Given the description of an element on the screen output the (x, y) to click on. 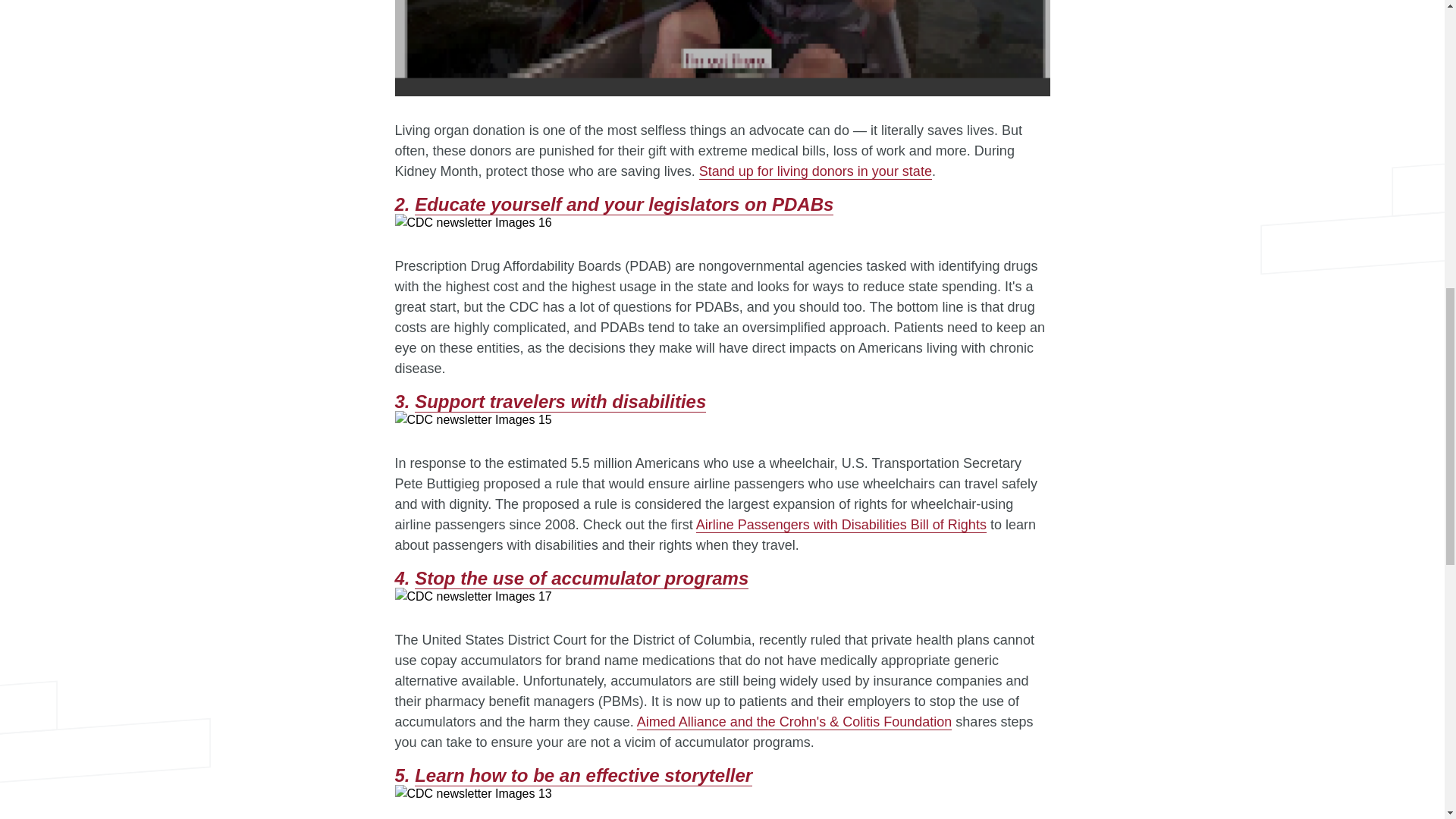
Stop the use of accumulator programs (581, 578)
Airline Passengers with Disabilities Bill of Rights (841, 524)
Support travelers with disabilities (560, 401)
Stand up for living donors in your state (814, 171)
Learn how to be an effective storyteller (583, 775)
Educate yourself and your legislators on PDABs (623, 204)
